Given the description of an element on the screen output the (x, y) to click on. 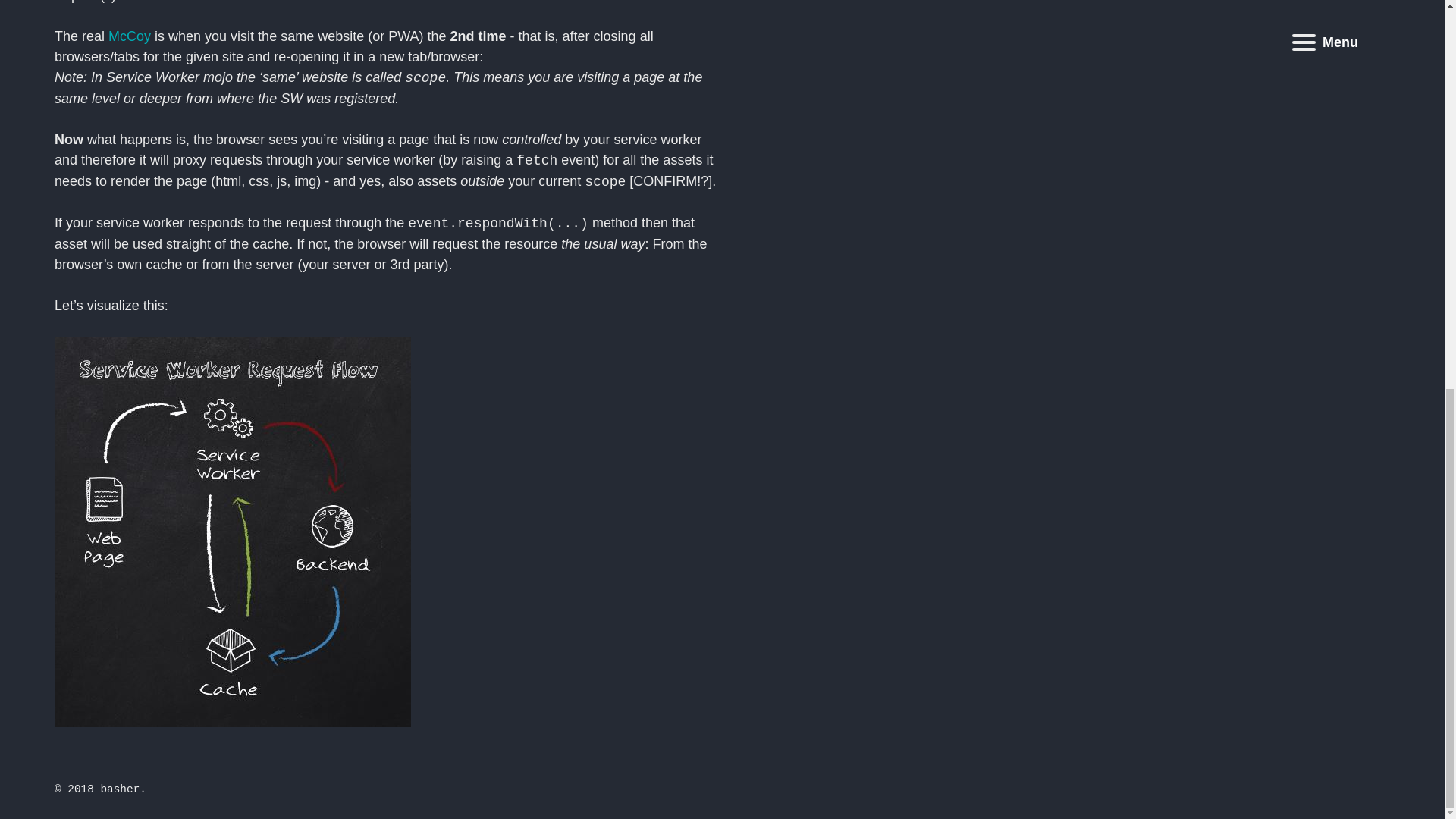
McCoy (129, 36)
